Given the description of an element on the screen output the (x, y) to click on. 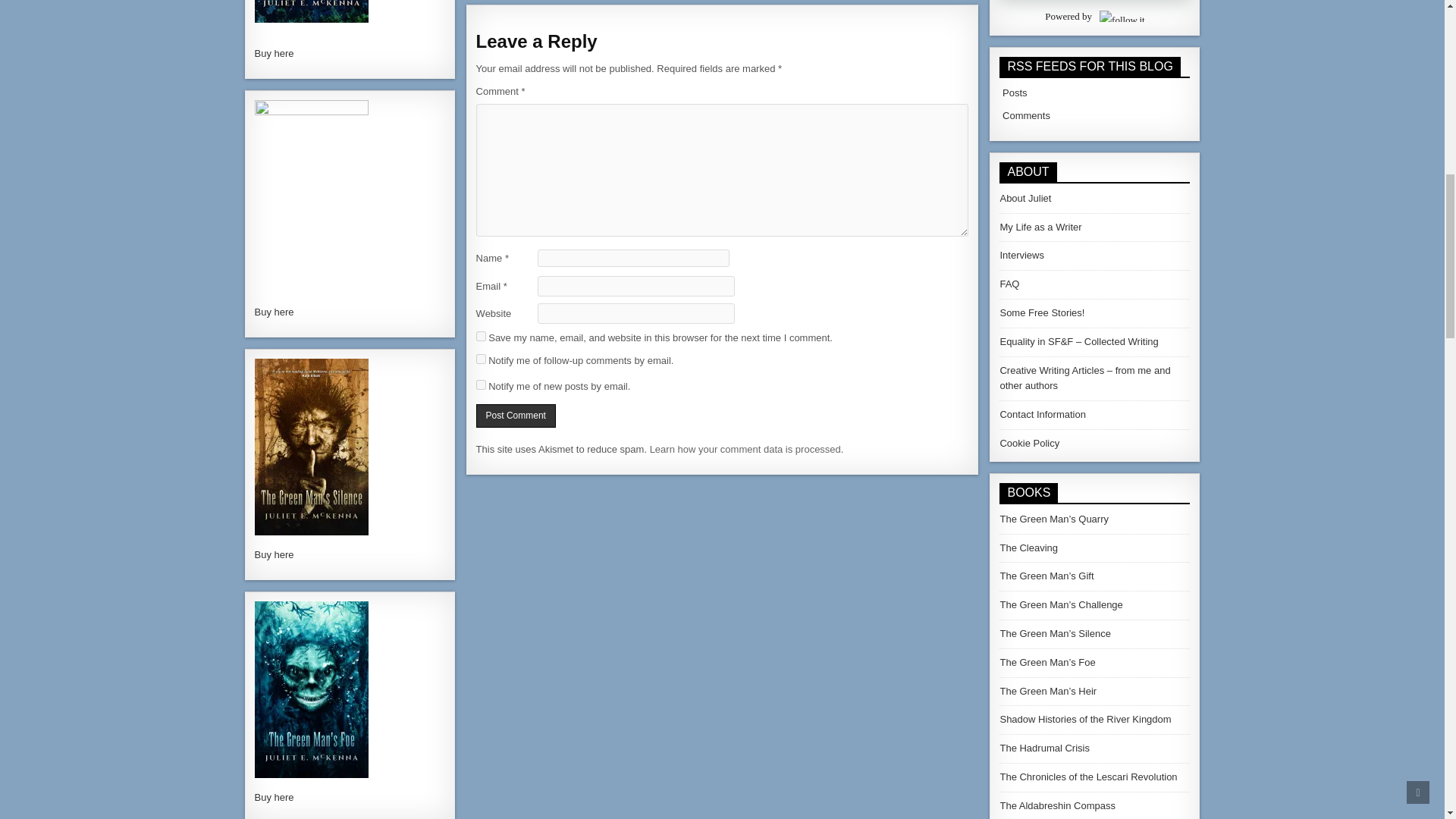
subscribe (481, 358)
yes (481, 336)
subscribe (481, 384)
Post Comment (516, 415)
